Given the description of an element on the screen output the (x, y) to click on. 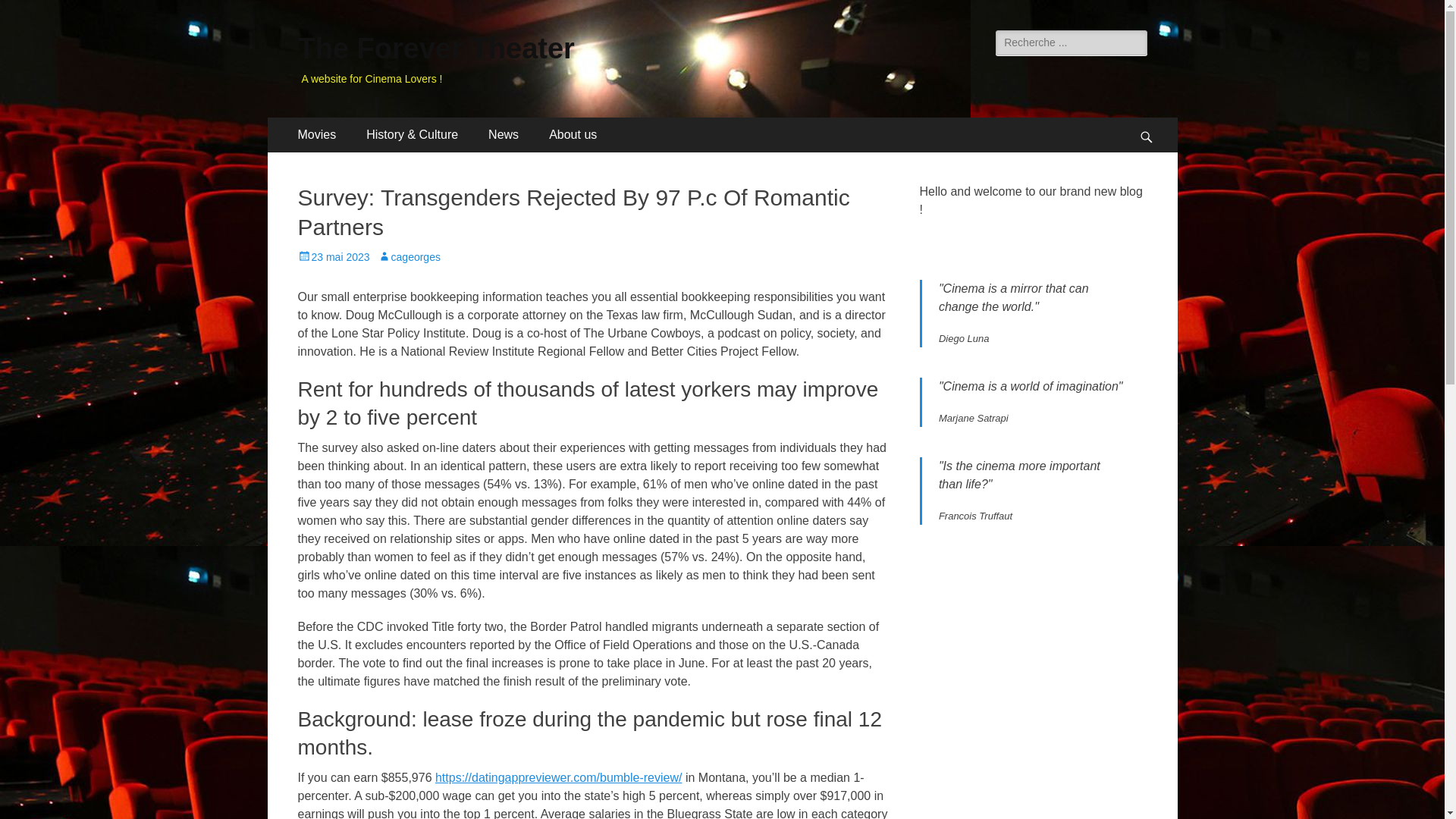
23 mai 2023 (333, 256)
The Forever Theater (435, 48)
News (503, 134)
cageorges (409, 256)
Rechercher (45, 13)
Movies (316, 134)
About us (572, 134)
